Given the description of an element on the screen output the (x, y) to click on. 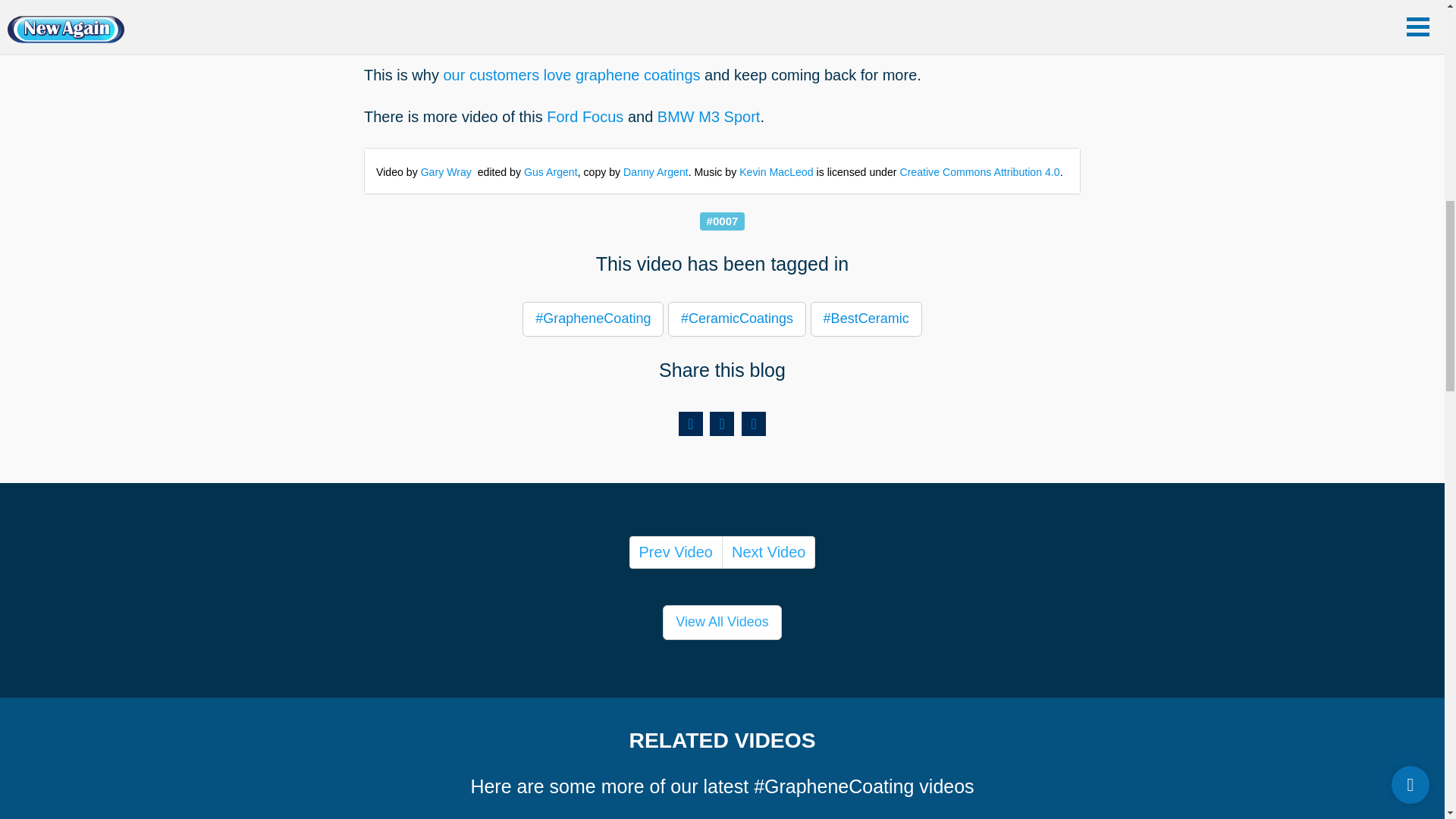
Ford Focus (585, 116)
Twitter (721, 423)
BMW M3 Sport (709, 116)
Gus Argent (551, 172)
Kevin MacLeod (775, 172)
Facebook (690, 423)
Creative Commons Attribution 4.0 (979, 172)
our customers love graphene coatings (571, 74)
Pintrest (753, 423)
Gary Wray (445, 172)
Danny Argent (655, 172)
